Given the description of an element on the screen output the (x, y) to click on. 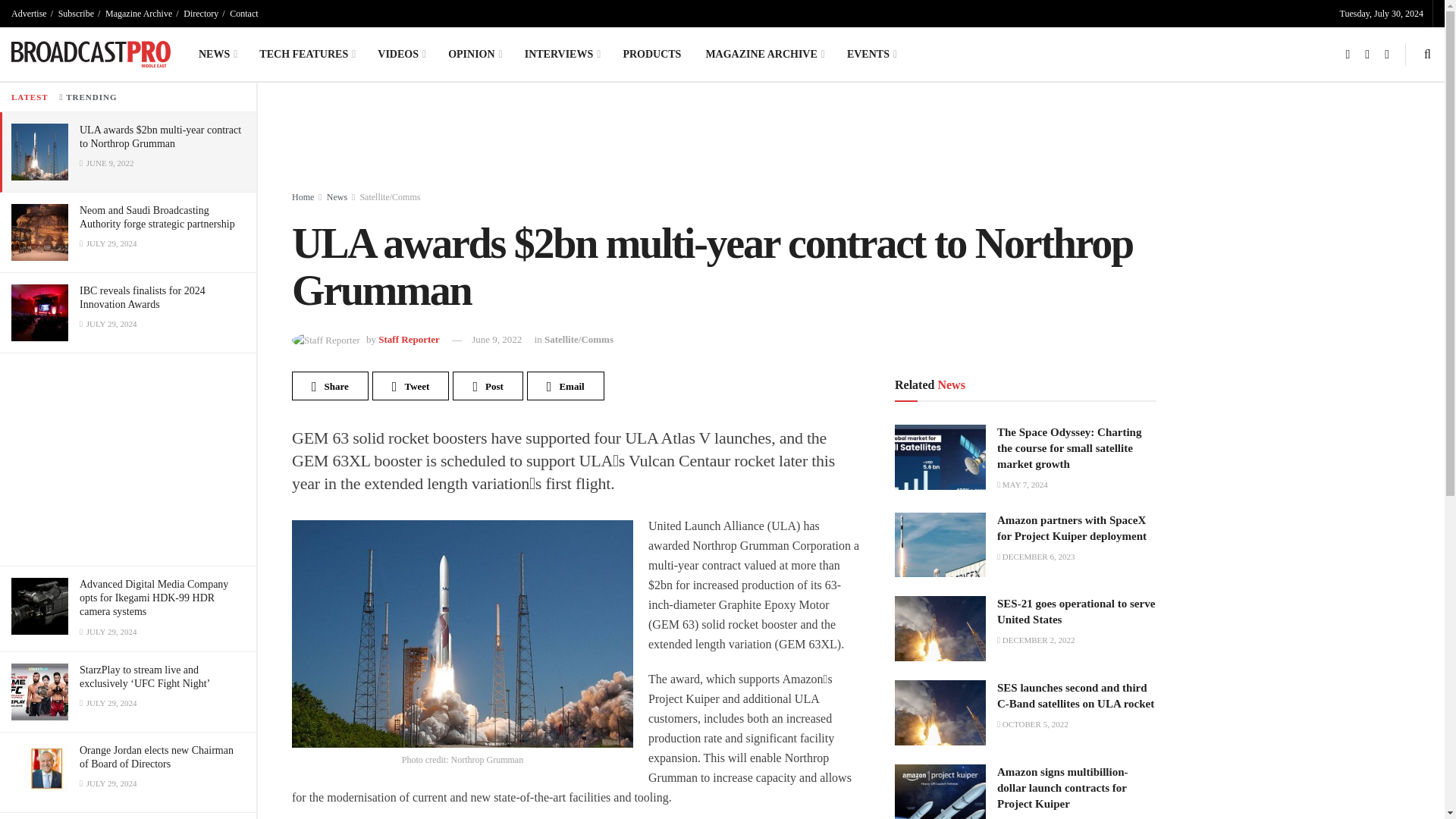
IBC reveals finalists for 2024 Innovation Awards (142, 297)
Magazine Archive (137, 13)
Subscribe (76, 13)
3rd party ad content (127, 459)
Advertise (28, 13)
Directory (200, 13)
Contact (243, 13)
3rd party ad content (659, 139)
Orange Jordan elects new Chairman of Board of Directors (156, 756)
